Given the description of an element on the screen output the (x, y) to click on. 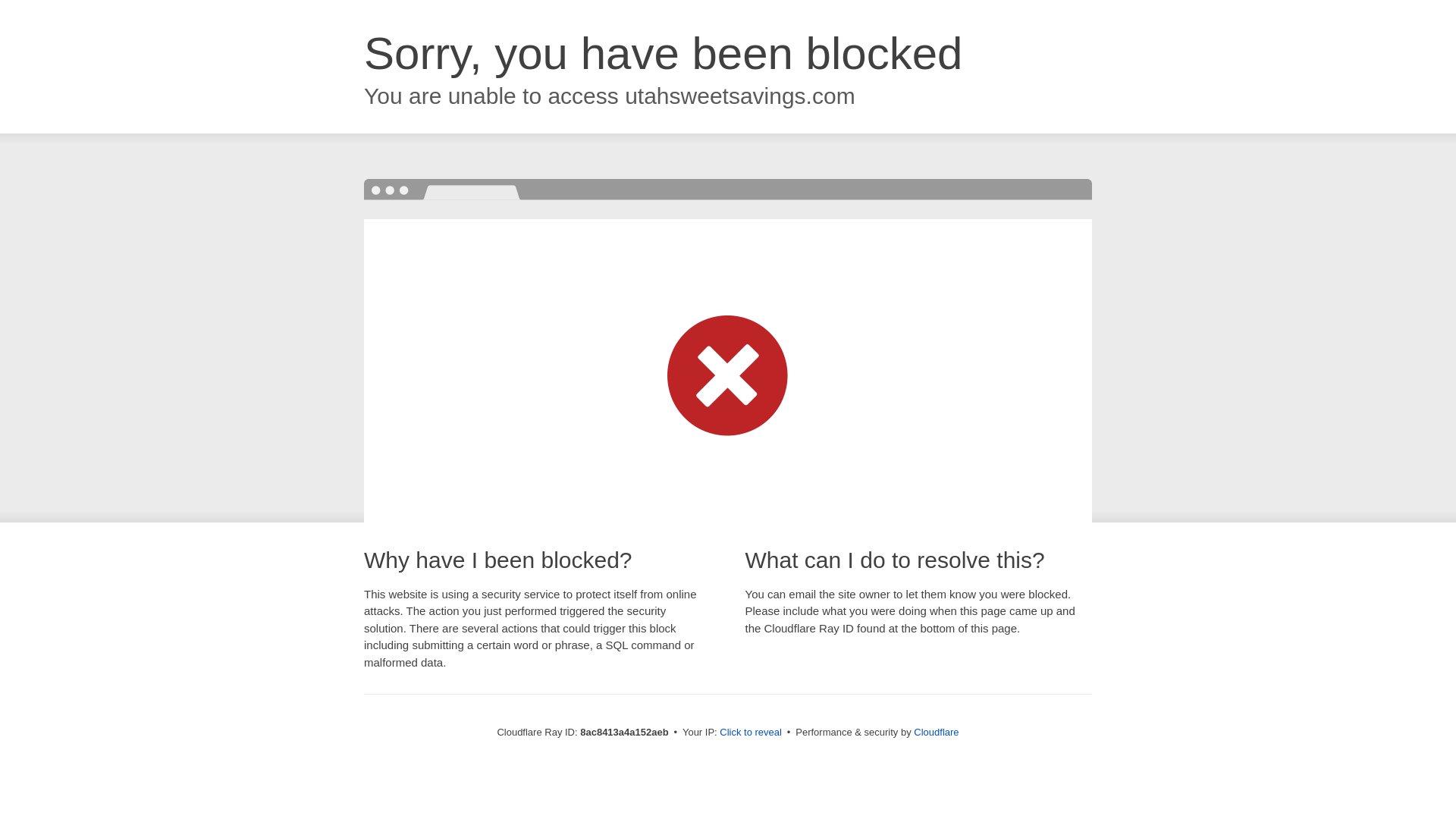
Click to reveal (750, 732)
Cloudflare (936, 731)
